Given the description of an element on the screen output the (x, y) to click on. 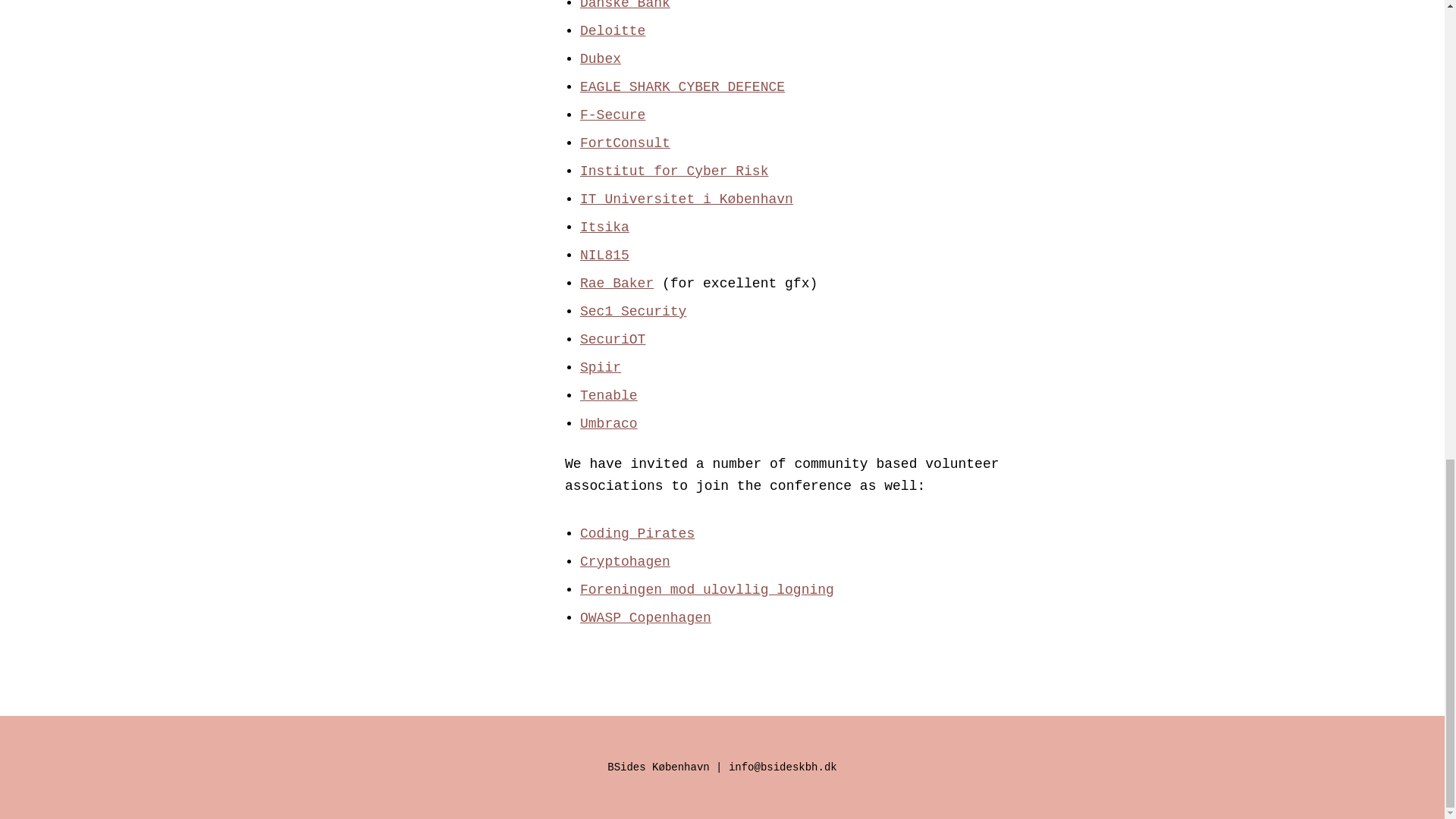
Spiir (600, 367)
Itsika (603, 227)
NIL815 (603, 255)
F-Secure (612, 114)
Coding Pirates (636, 533)
Cryptohagen (624, 561)
Danske Bank (624, 5)
Rae Baker (616, 283)
Deloitte (612, 30)
Institut for Cyber Risk (673, 171)
